Given the description of an element on the screen output the (x, y) to click on. 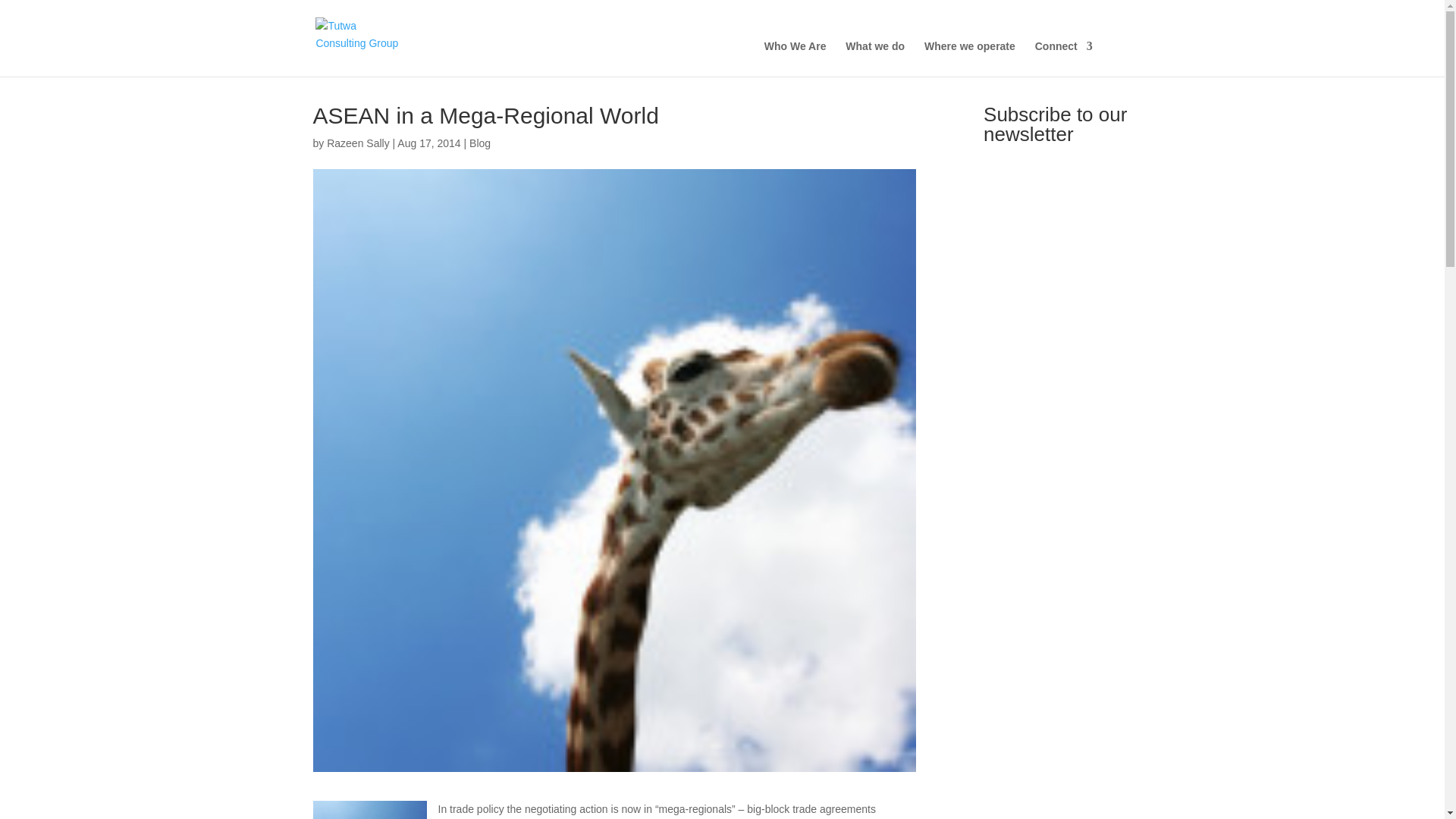
Blog (479, 143)
Razeen Sally (358, 143)
Posts by Razeen Sally (358, 143)
Connect (1064, 58)
Who We Are (795, 58)
Where we operate (969, 58)
What we do (874, 58)
